Given the description of an element on the screen output the (x, y) to click on. 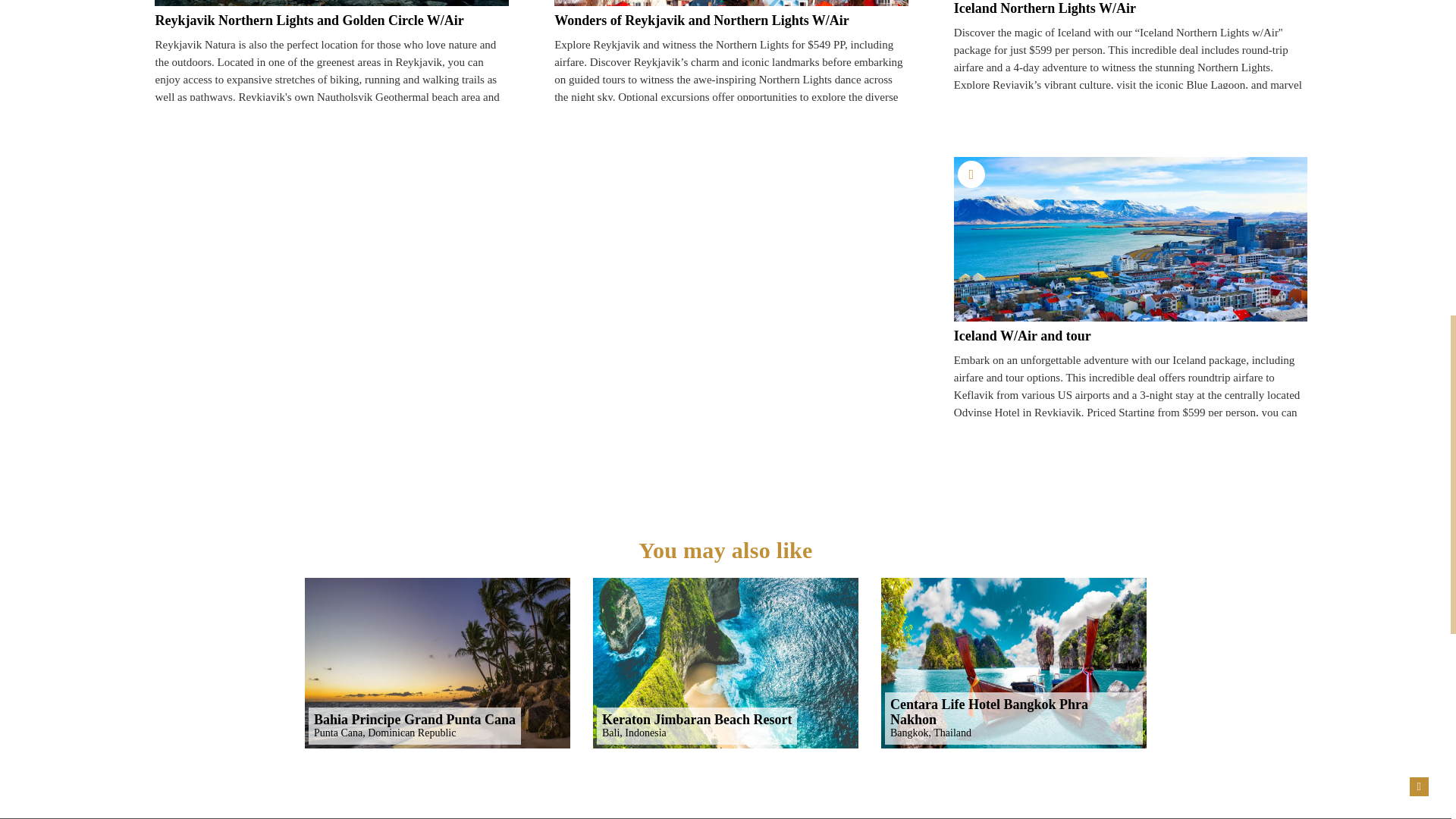
Bahia Principe Grand Punta Cana (437, 663)
Add to Wishlist (971, 174)
Centara Life Hotel Bangkok Phra Nakhon (1013, 663)
Keraton Jimbaran Beach Resort (725, 663)
